Given the description of an element on the screen output the (x, y) to click on. 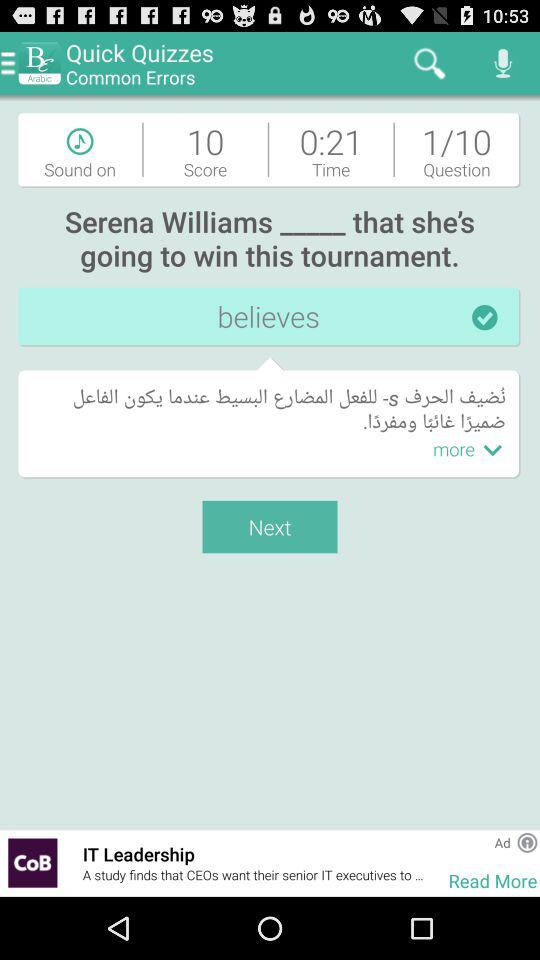
turn off ad icon (502, 842)
